Given the description of an element on the screen output the (x, y) to click on. 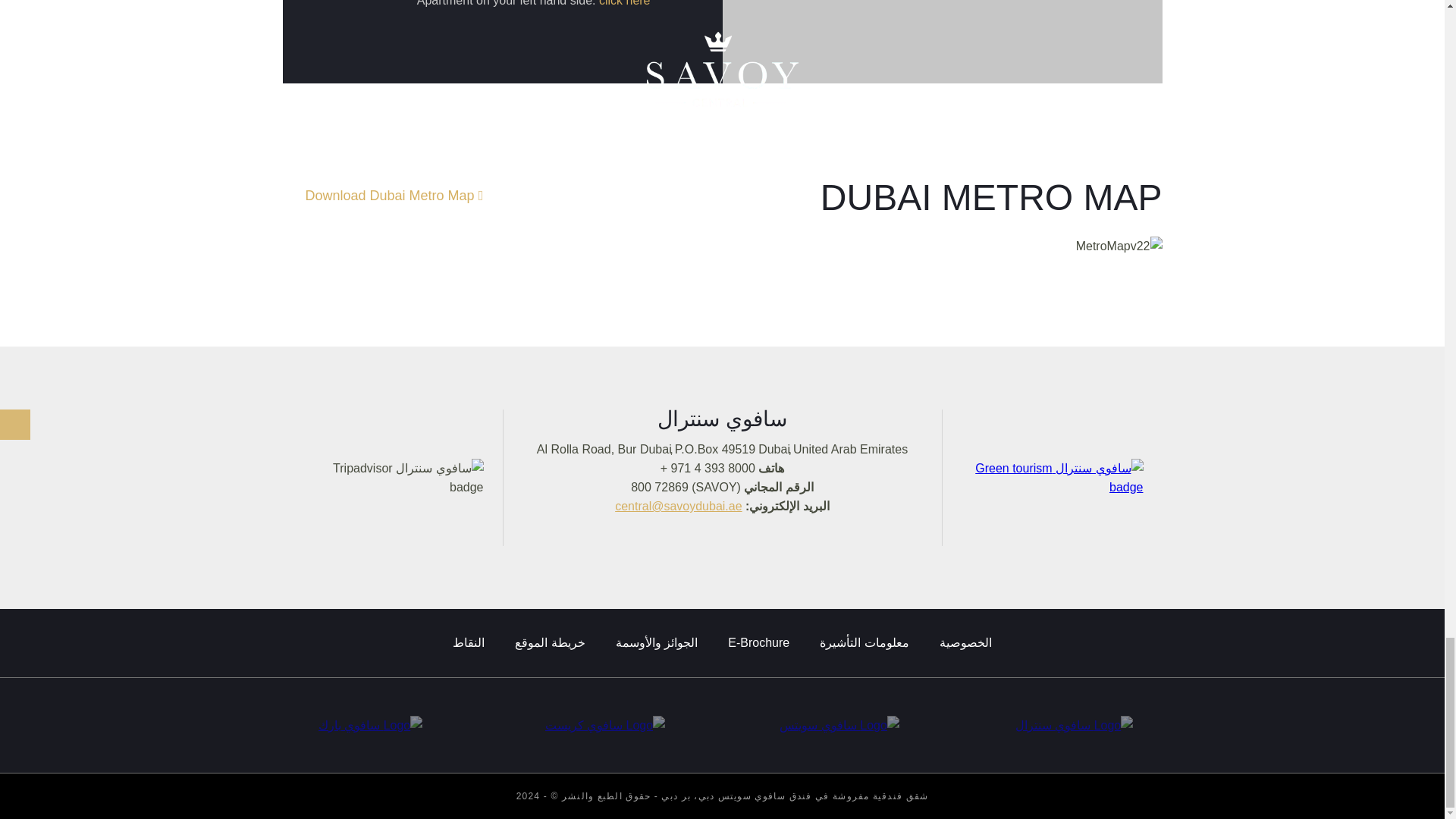
Download Dubai Metro Map (393, 197)
click here (624, 3)
click here (624, 3)
